Given the description of an element on the screen output the (x, y) to click on. 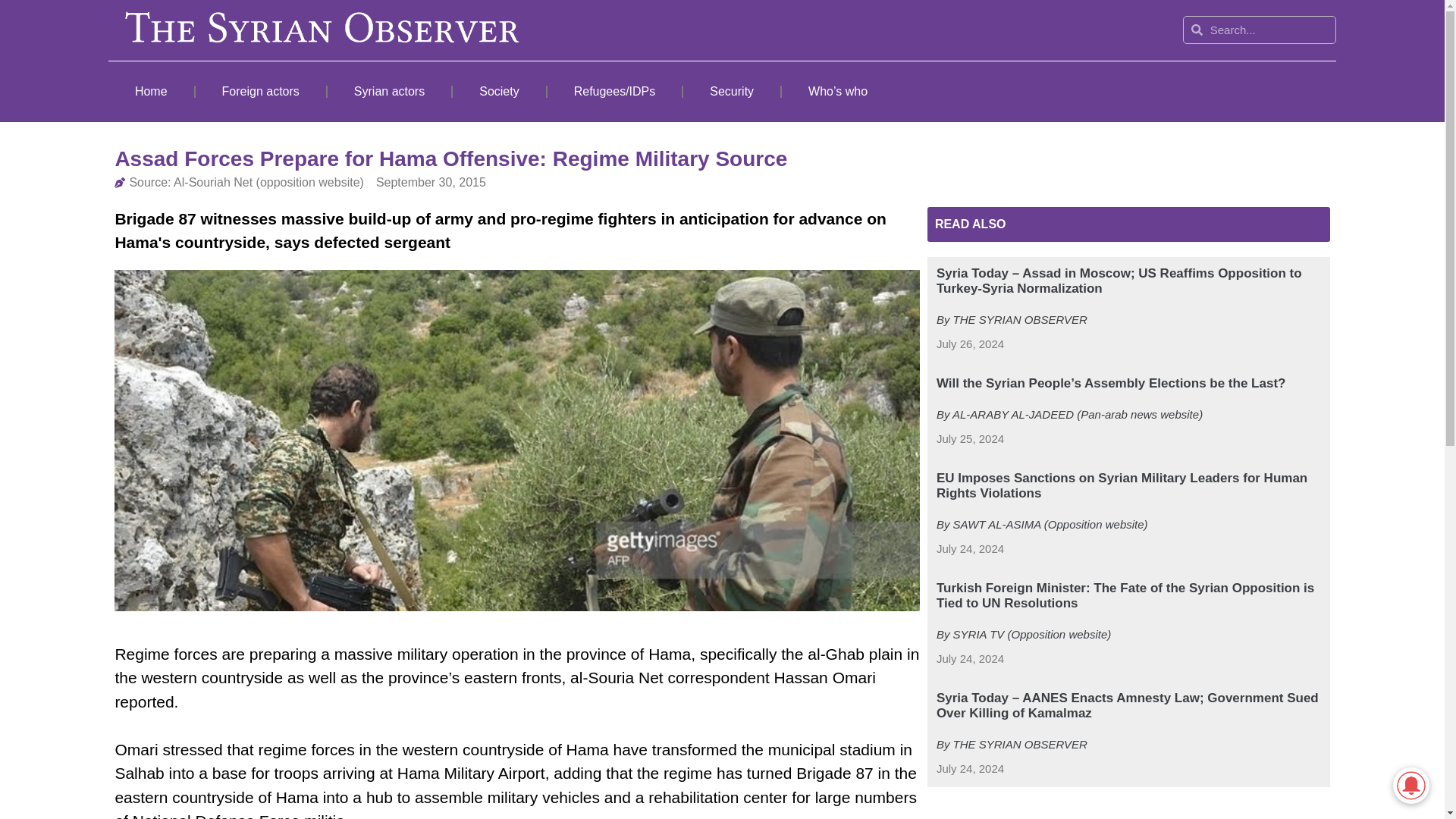
July 24, 2024 (970, 659)
July 24, 2024 (970, 548)
Foreign actors (260, 91)
Society (498, 91)
July 25, 2024 (970, 438)
Syrian actors (389, 91)
Security (731, 91)
July 24, 2024 (970, 769)
Home (150, 91)
July 26, 2024 (970, 343)
